Given the description of an element on the screen output the (x, y) to click on. 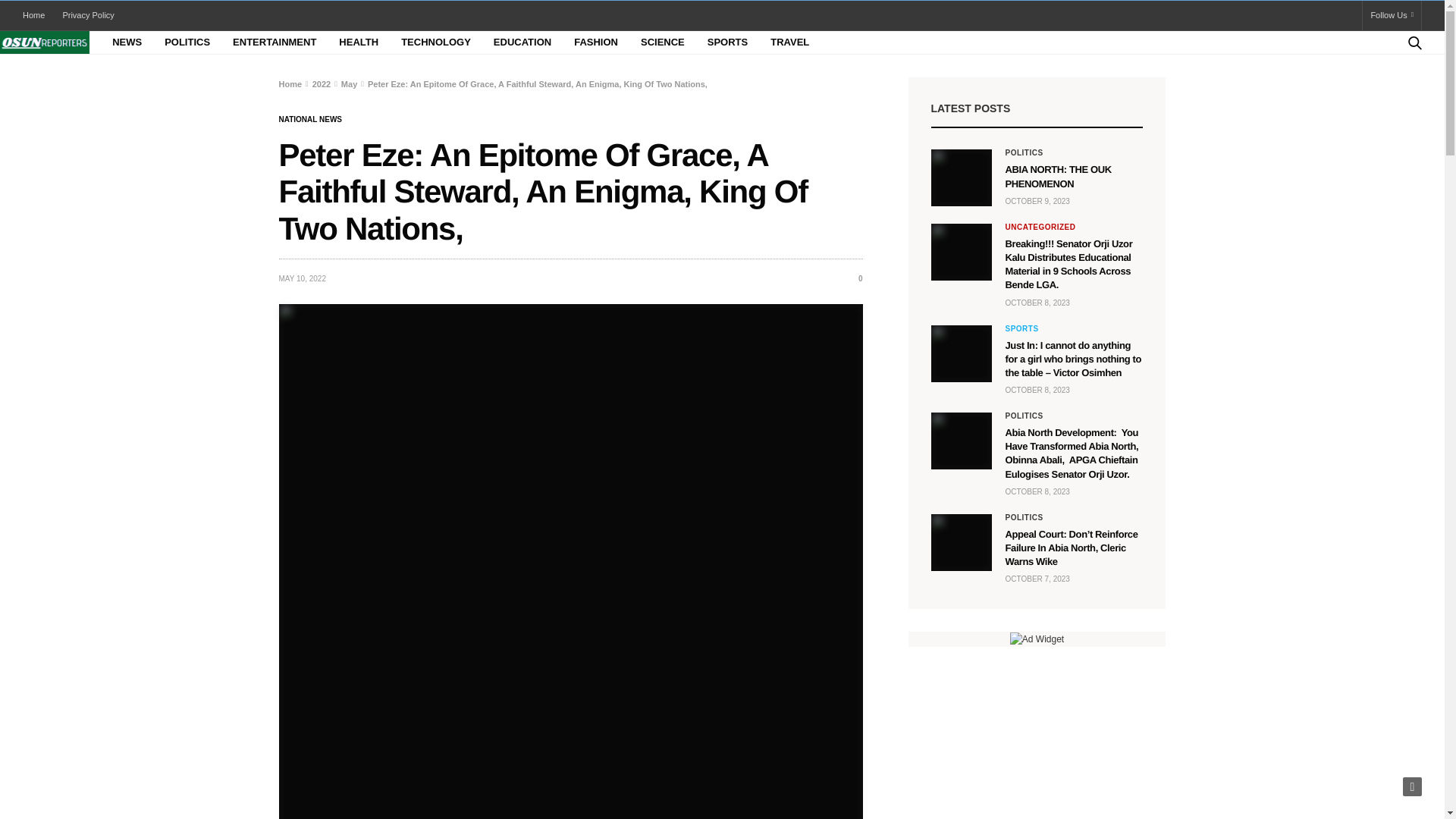
Search (1393, 74)
EDUCATION (522, 42)
Sports (1022, 328)
ENTERTAINMENT (273, 42)
Privacy Policy (87, 15)
Home (290, 83)
0 (853, 278)
POLITICS (186, 42)
National News (310, 119)
